Given the description of an element on the screen output the (x, y) to click on. 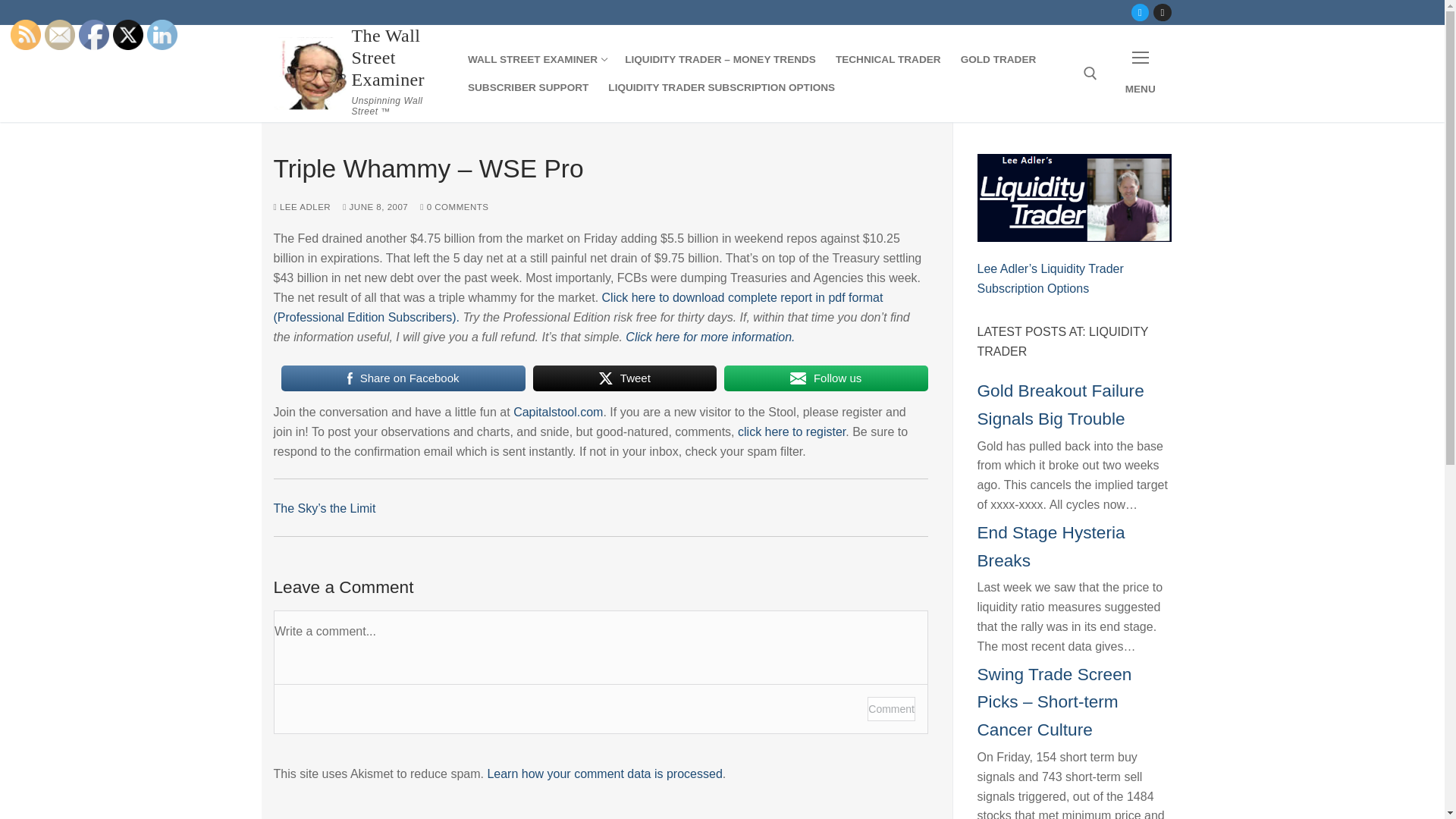
The Wall Street Examiner (398, 58)
0 COMMENTS (453, 206)
Home Page (536, 59)
Click here for more information. (710, 336)
Tweet (624, 378)
Comment Form (600, 671)
Reports for subscribers (719, 59)
Capitalstool.com (557, 411)
End Stage Hysteria Breaks (1050, 546)
Follow us (825, 378)
MENU (1140, 73)
LEE ADLER (301, 206)
Market Update Reports for subscribers (887, 59)
Learn how your comment data is processed (604, 773)
Share on Facebook (402, 378)
